Given the description of an element on the screen output the (x, y) to click on. 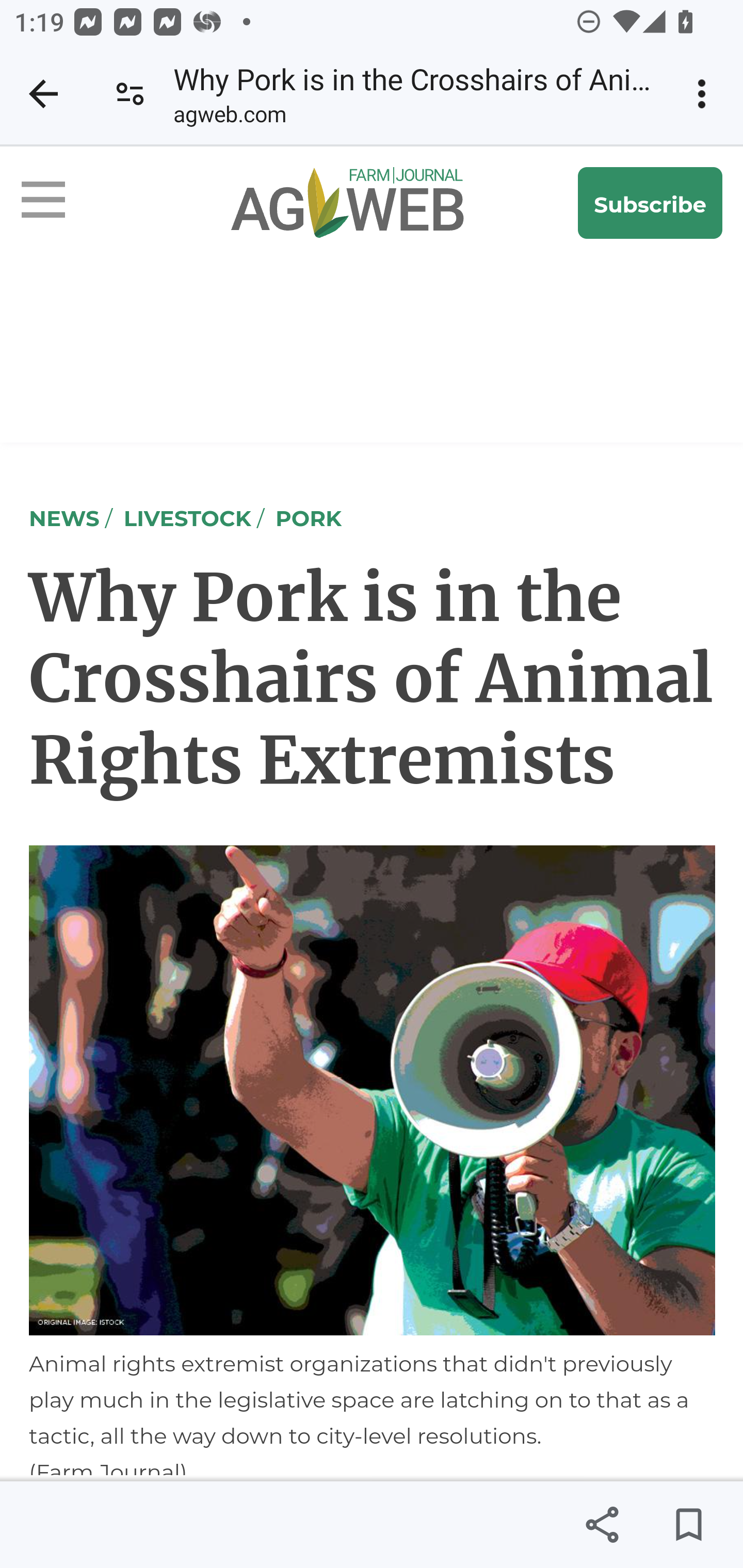
Close tab (43, 93)
Customize and control Google Chrome (705, 93)
Connection is secure (129, 93)
agweb.com (229, 117)
Navigation Toggle (59, 203)
agweb Logo (336, 203)
Subscribe (650, 202)
NEWS (64, 517)
LIVESTOCK (187, 517)
PORK (308, 517)
Share (601, 1524)
Save for later (688, 1524)
